Given the description of an element on the screen output the (x, y) to click on. 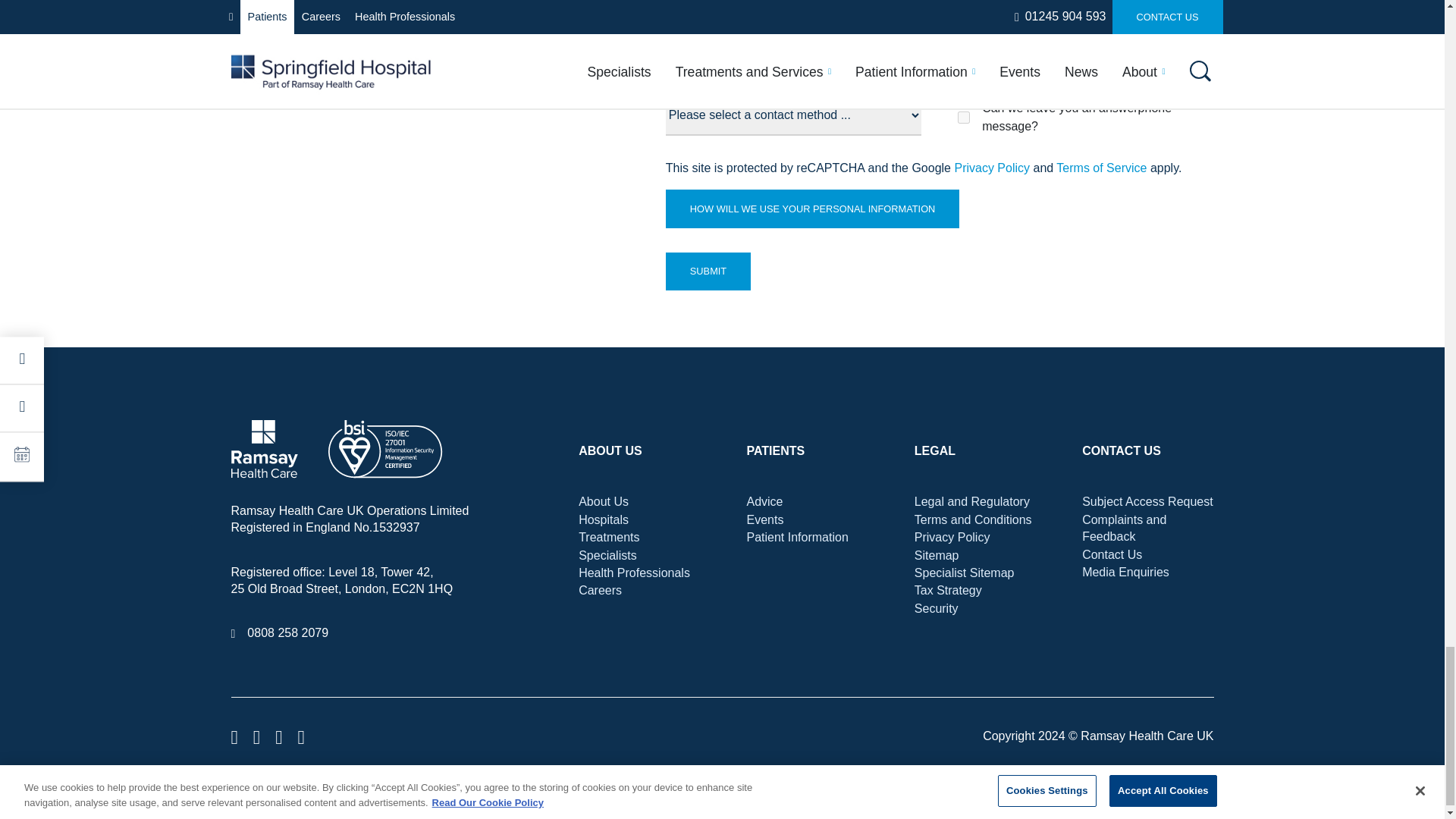
on (963, 117)
Submit (708, 271)
